Given the description of an element on the screen output the (x, y) to click on. 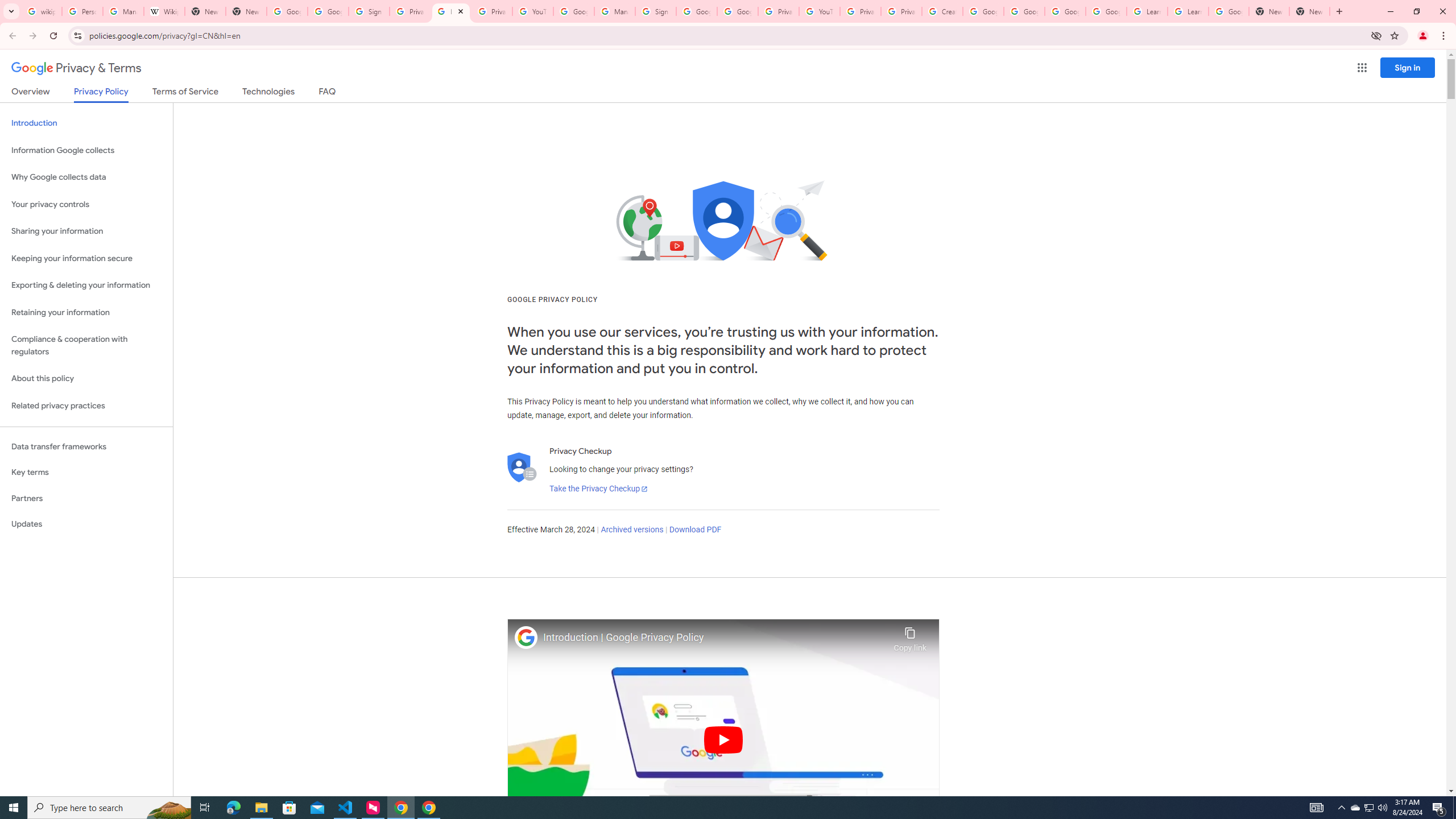
Terms of Service (184, 93)
Google Account (1228, 11)
Photo image of Google (526, 636)
Manage your Location History - Google Search Help (122, 11)
New Tab (1309, 11)
Data transfer frameworks (86, 446)
Download PDF (695, 529)
Google apps (1362, 67)
Wikipedia:Edit requests - Wikipedia (163, 11)
Play (723, 739)
Retaining your information (86, 312)
